Given the description of an element on the screen output the (x, y) to click on. 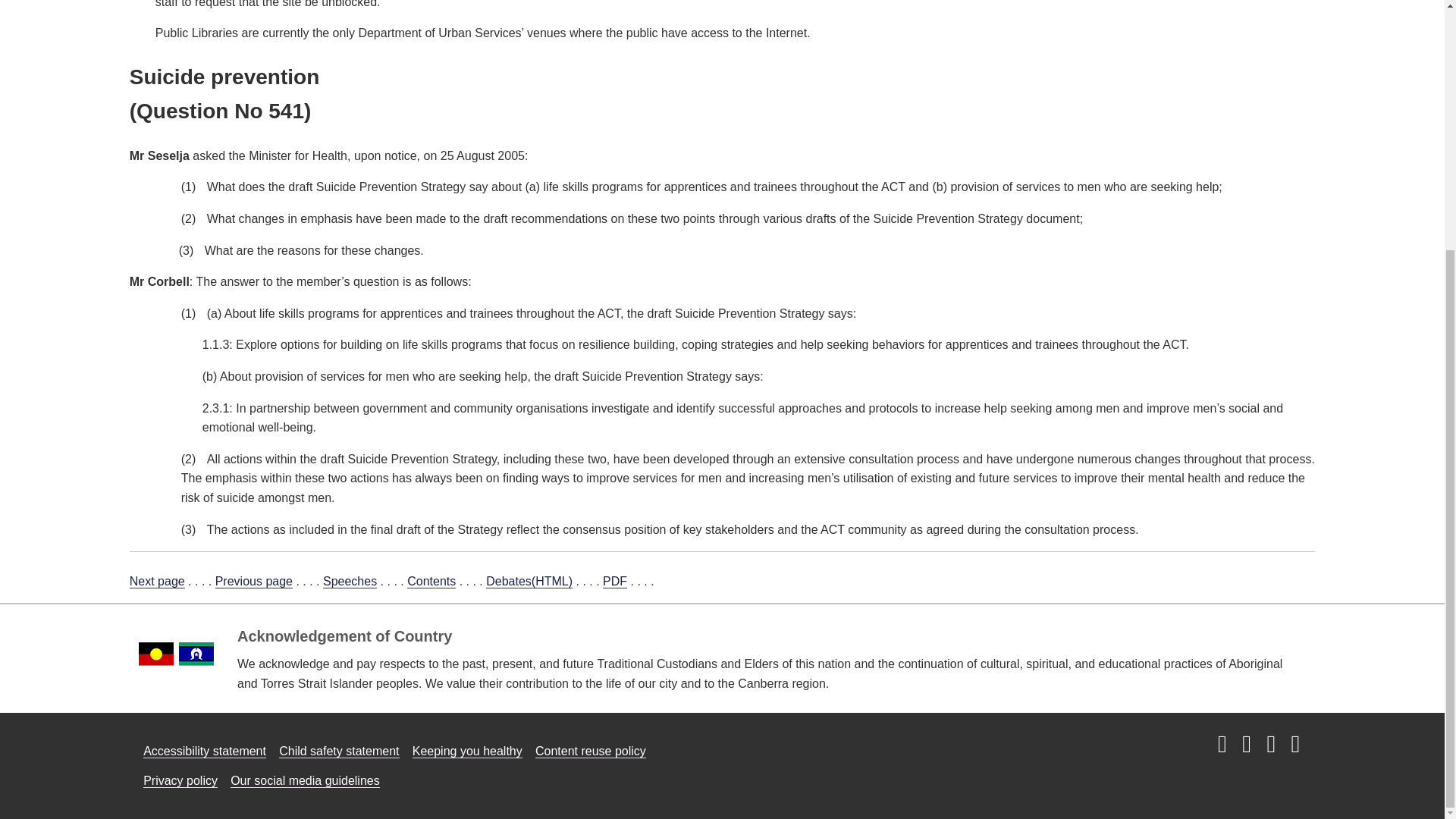
Read about how we're keeping our Assembly healthy (467, 751)
Child safety statement (338, 751)
Next page (156, 581)
Speeches (350, 581)
Accessibility statement (204, 751)
Read our child safety committment (338, 751)
Our social media guidelines (305, 780)
Contents (431, 581)
Read our content sharing and re-use policy (590, 751)
Previous page (253, 581)
